Given the description of an element on the screen output the (x, y) to click on. 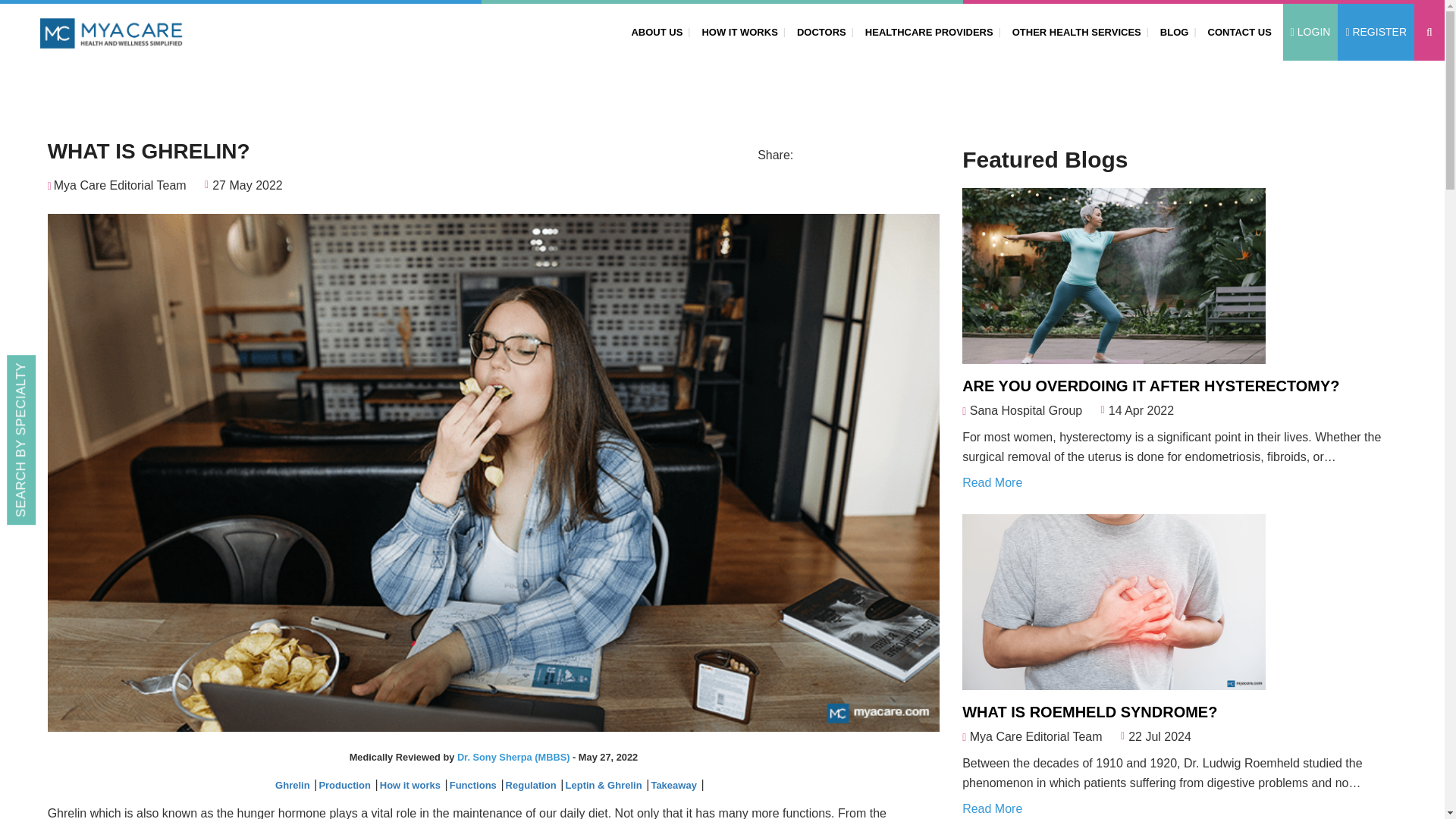
Blog (1260, 82)
OTHER HEALTH SERVICES (1073, 31)
Home (1223, 82)
REGISTER (1375, 32)
HOW IT WORKS (736, 31)
ABOUT US (653, 31)
Production (345, 785)
Ghrelin (293, 785)
How it works (411, 785)
Regulation (531, 785)
